Given the description of an element on the screen output the (x, y) to click on. 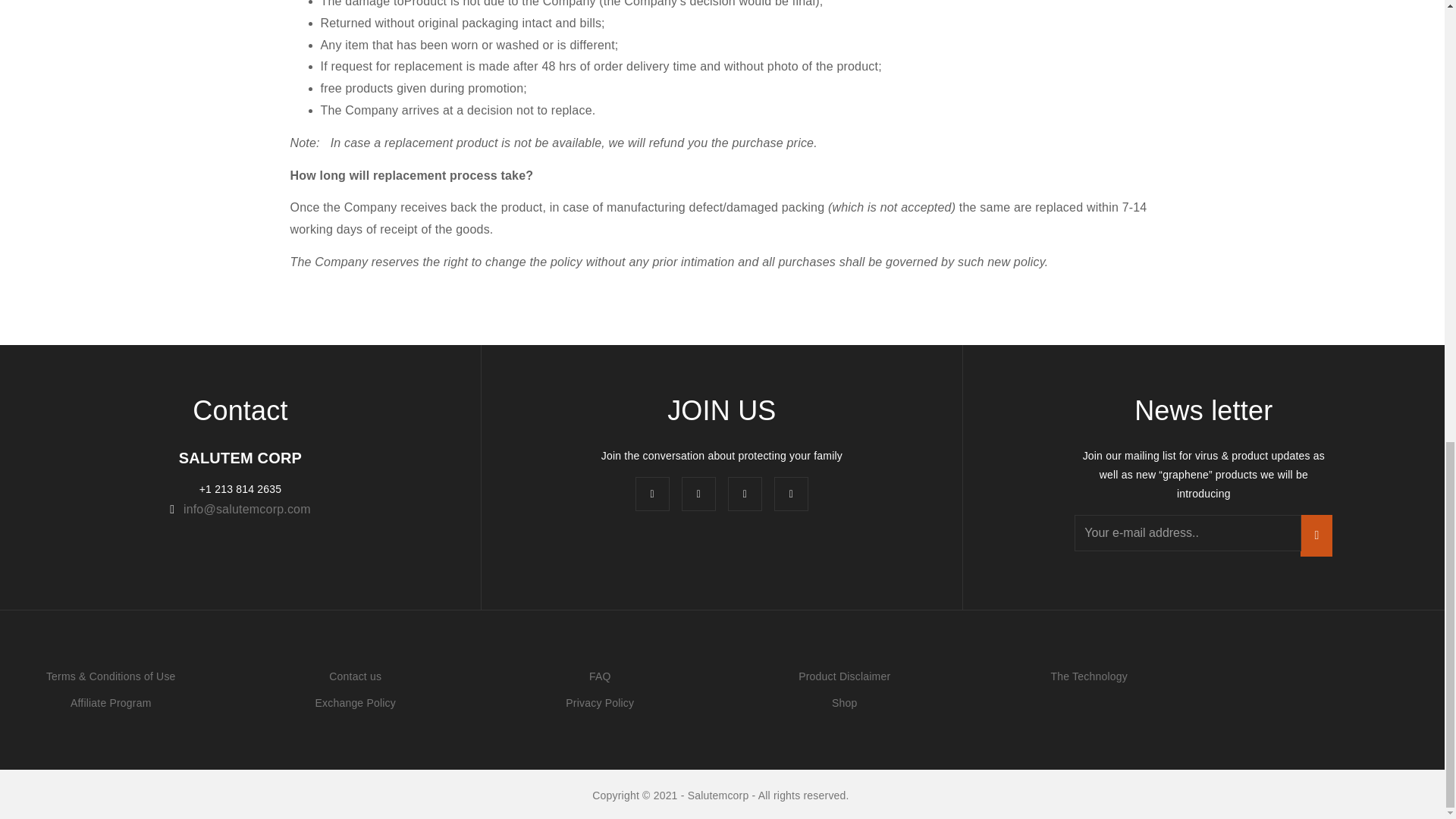
facebook (651, 493)
Privacy Policy (599, 702)
FAQ (600, 676)
Affiliate Program (110, 702)
Exchange Policy (355, 702)
Shop (844, 702)
The Technology (1088, 676)
Product Disclaimer (843, 676)
Instagram (744, 493)
twitter (791, 493)
Contact us (355, 676)
in (698, 493)
